Given the description of an element on the screen output the (x, y) to click on. 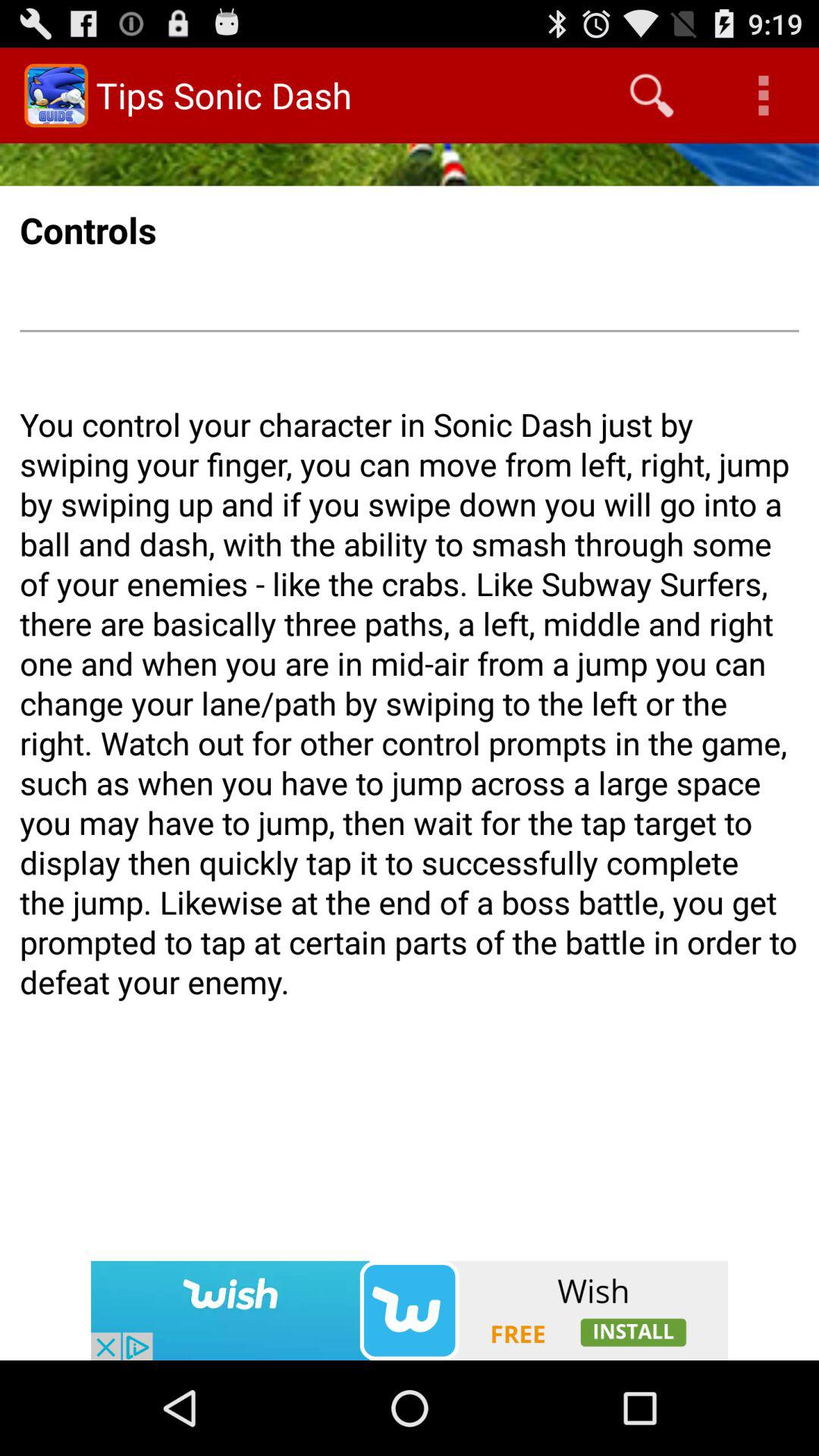
choose icon to the right of the tips sonic dash icon (651, 95)
